Given the description of an element on the screen output the (x, y) to click on. 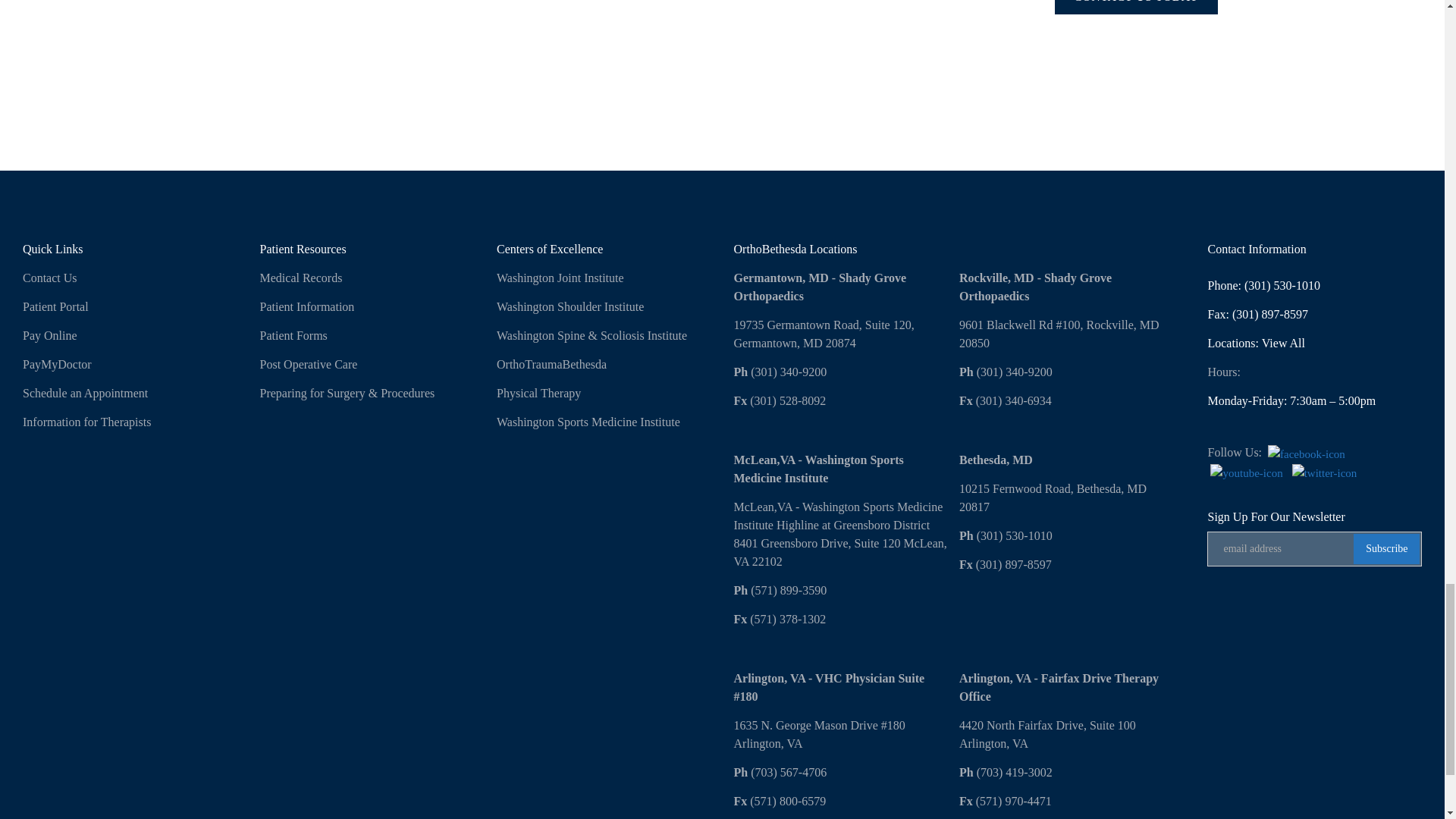
Subscribe (1386, 548)
